Given the description of an element on the screen output the (x, y) to click on. 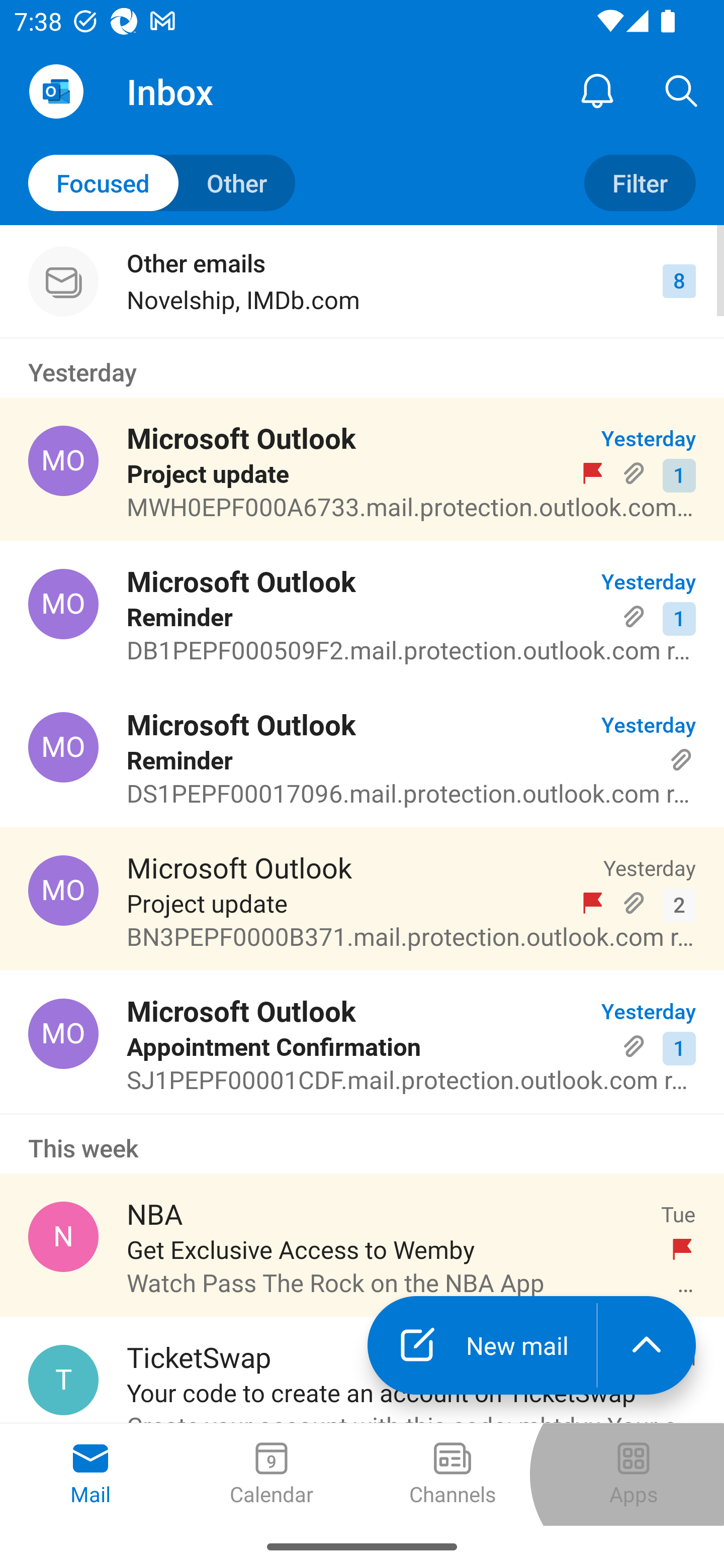
Notification Center (597, 90)
Search, ,  (681, 90)
Open Navigation Drawer (55, 91)
Toggle to other mails (161, 183)
Filter (639, 183)
Other emails Novelship, IMDb.com 8 (362, 281)
NBA, NBA@email.nba.com (63, 1236)
New mail (481, 1344)
launch the extended action menu (646, 1344)
TicketSwap, info@ticketswap.com (63, 1380)
Calendar (271, 1474)
Channels (452, 1474)
Apps (633, 1474)
